Given the description of an element on the screen output the (x, y) to click on. 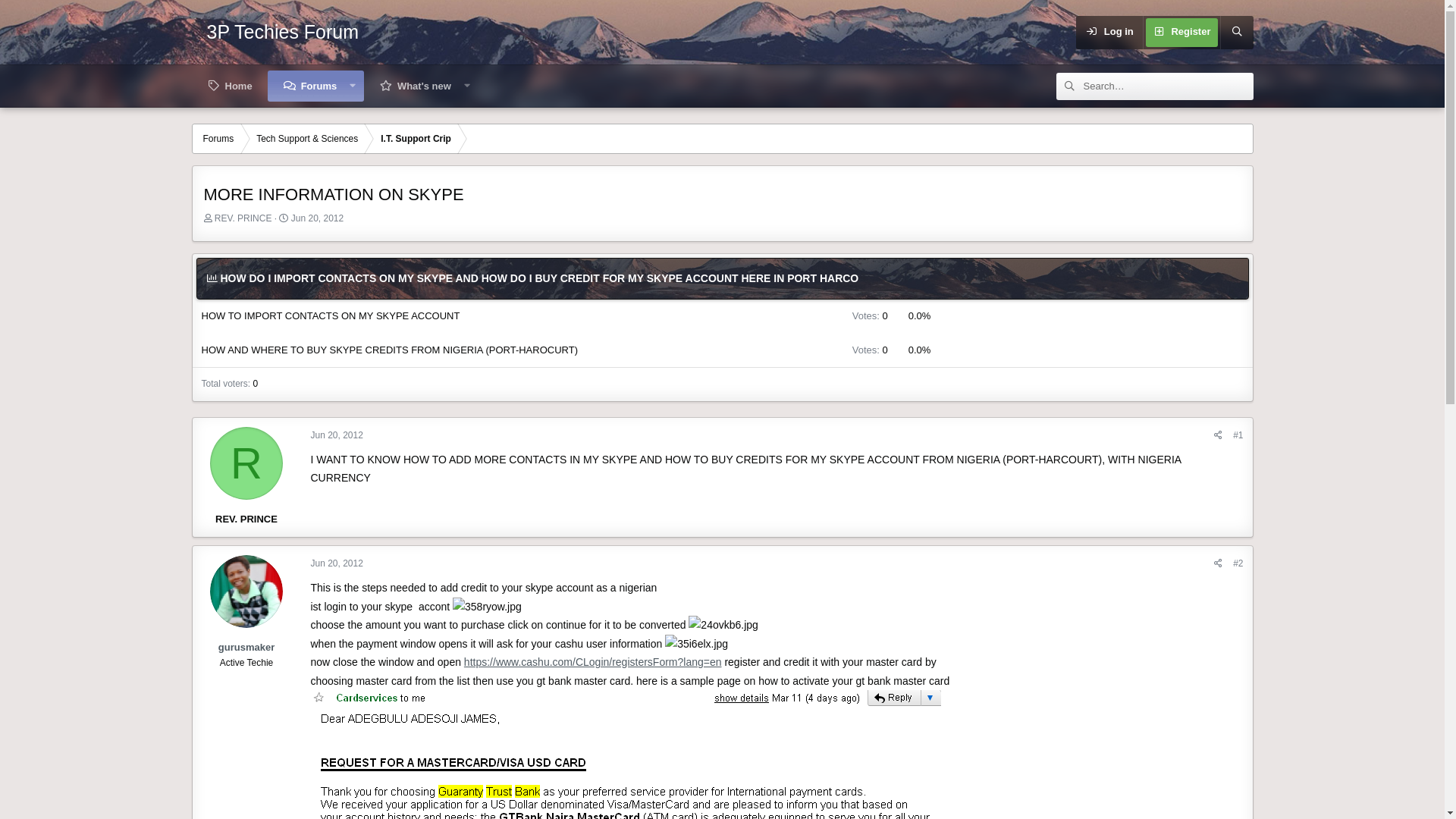
Start date Element type: hover (283, 217)
Thread starter Element type: hover (207, 217)
#1 Element type: text (1237, 434)
Search Element type: hover (1235, 31)
Tech Support & Sciences Element type: text (306, 138)
35i6elx.jpg Element type: hover (696, 643)
#2 Element type: text (1237, 563)
Register Element type: text (1181, 31)
I.T. Support Crip Element type: text (415, 138)
Jun 20, 2012 Element type: text (336, 434)
What's new Element type: text (415, 85)
24ovkb6.jpg Element type: hover (723, 624)
Log in Element type: text (1109, 31)
358ryow.jpg Element type: hover (486, 606)
Jun 20, 2012 Element type: text (336, 563)
https://www.cashu.com/CLogin/registersForm?lang=en Element type: text (592, 661)
gurusmaker Element type: text (246, 646)
Forums Element type: text (309, 85)
3P Techies Forum Element type: text (282, 32)
Jun 20, 2012 Element type: text (317, 218)
Forums Element type: text (217, 138)
Home Element type: text (228, 85)
